Given the description of an element on the screen output the (x, y) to click on. 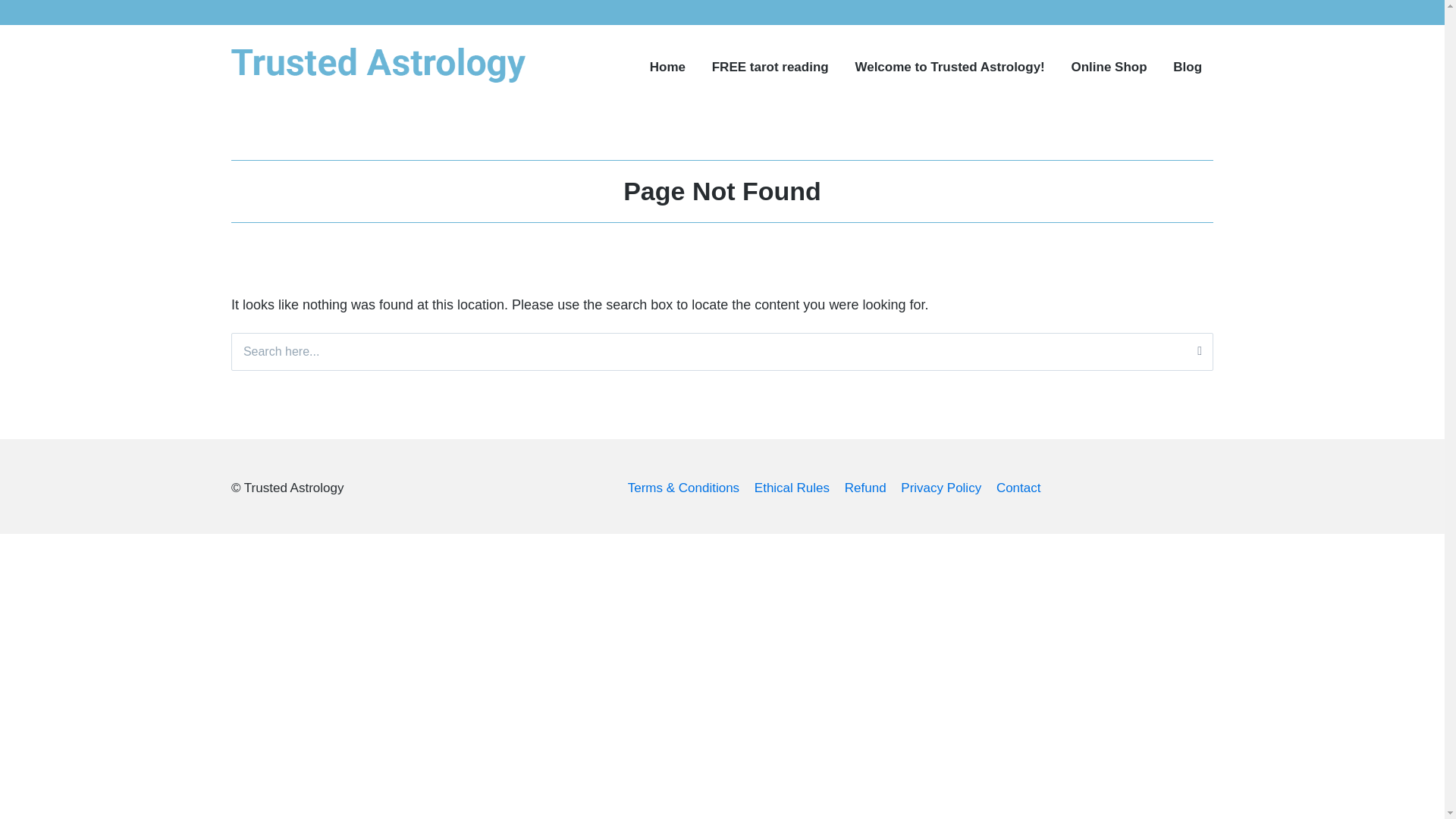
Home (667, 67)
Ethical Rules (791, 487)
Trusted Astrology (314, 93)
Privacy Policy (941, 487)
Contact (1018, 487)
Online Shop (1108, 67)
Welcome to Trusted Astrology! (948, 67)
Blog (1187, 67)
Refund (865, 487)
FREE tarot reading (769, 67)
